Given the description of an element on the screen output the (x, y) to click on. 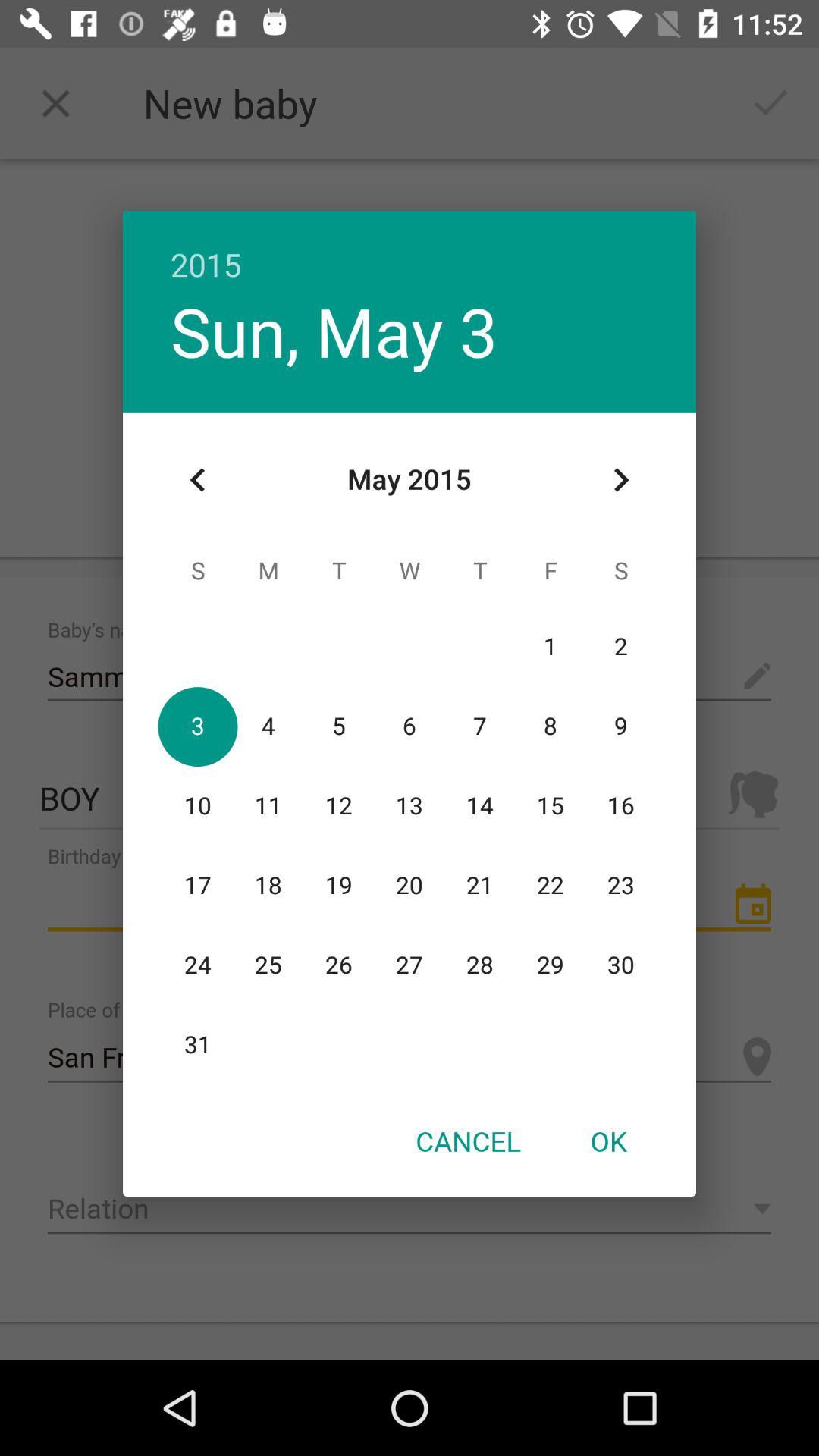
launch the icon to the left of the ok icon (467, 1140)
